Given the description of an element on the screen output the (x, y) to click on. 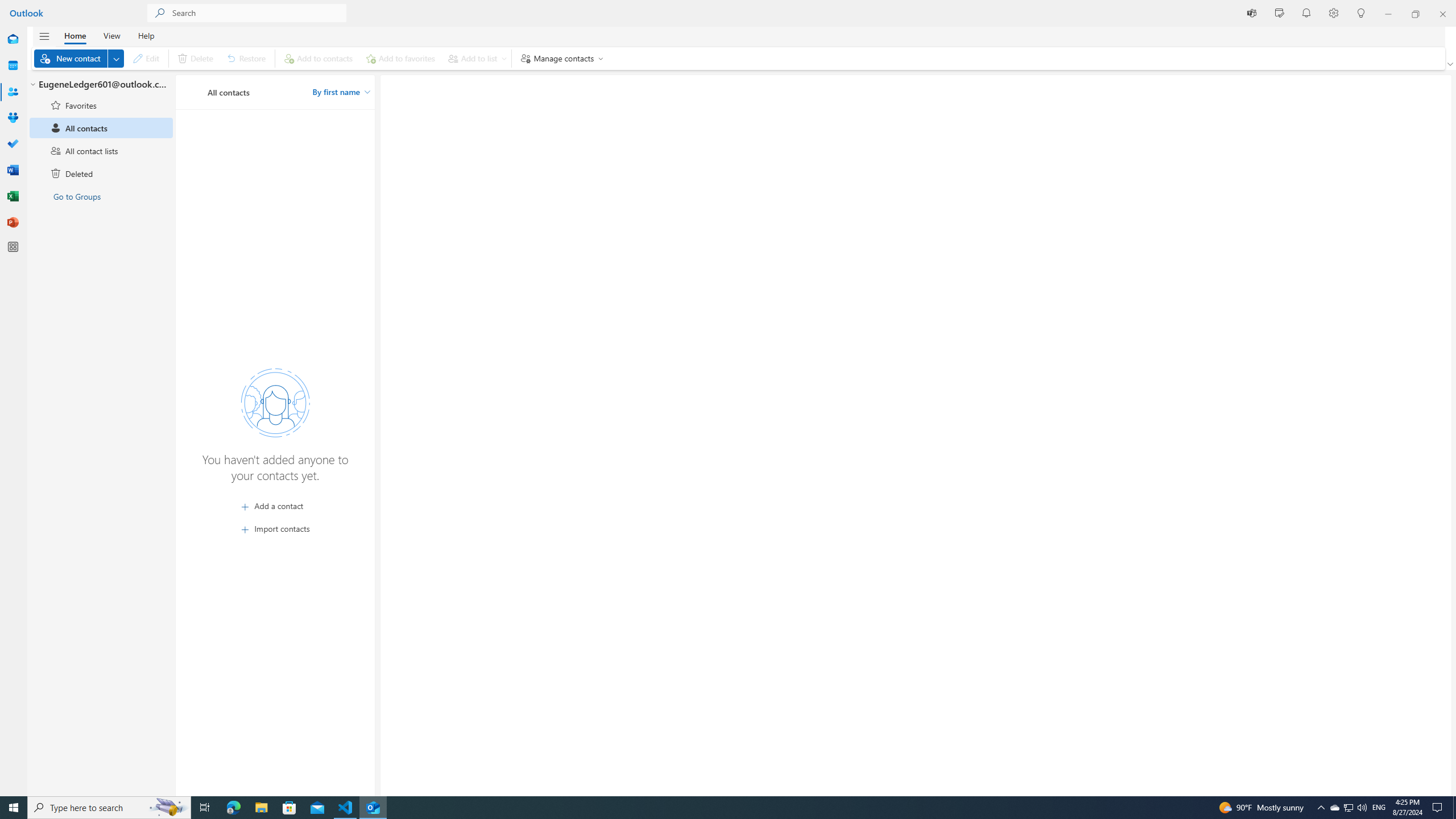
Ribbon display options (1450, 63)
Word (12, 169)
Edit (145, 58)
Favorites (101, 105)
People (12, 92)
Add to favorites (400, 58)
PowerPoint (12, 222)
Create new contact, contact list, or group (116, 58)
